Given the description of an element on the screen output the (x, y) to click on. 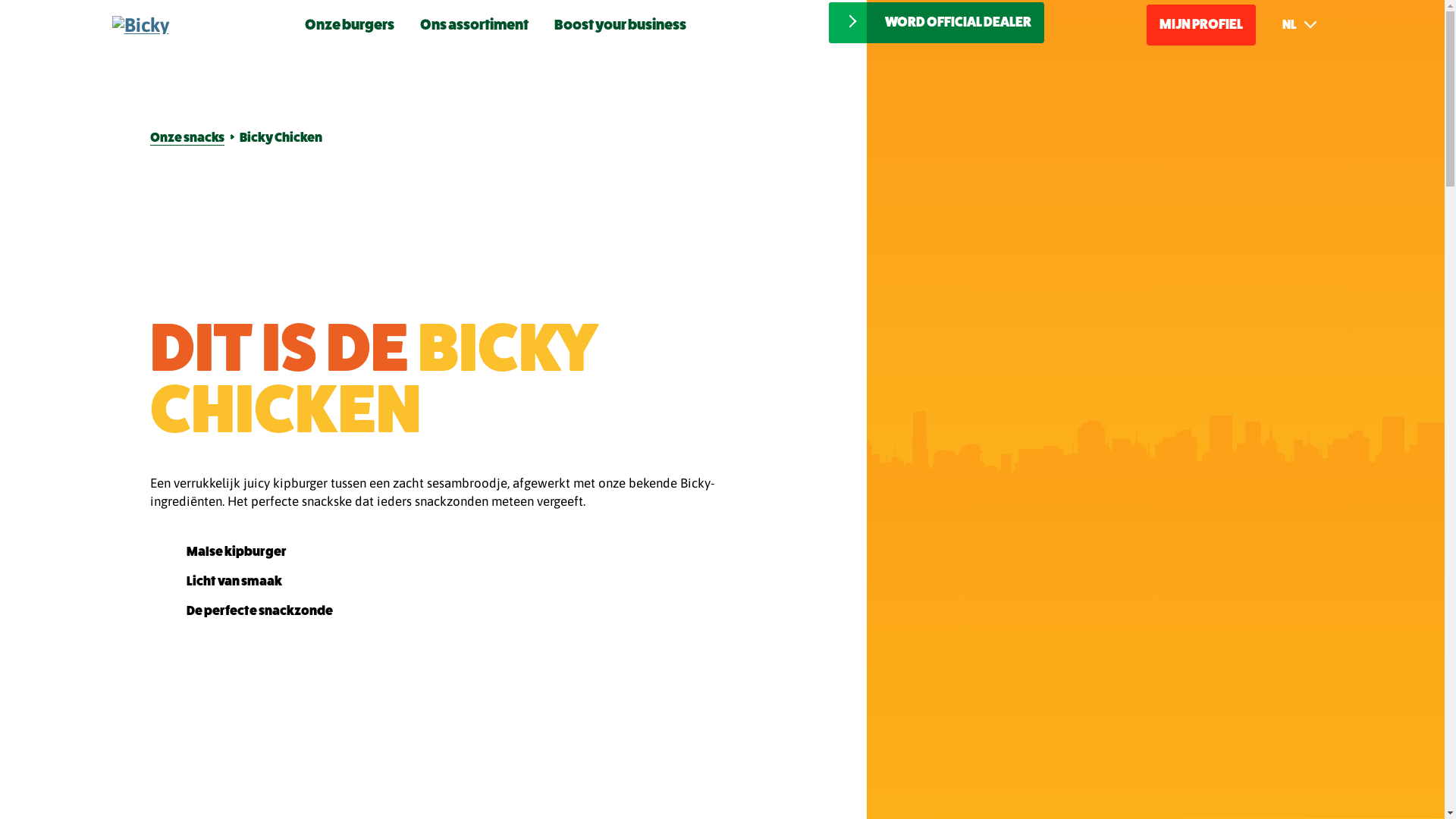
Ons assortiment Element type: text (474, 24)
Onze burgers Element type: text (349, 24)
MIJN PROFIEL Element type: text (1200, 24)
Onze snacks Element type: text (187, 137)
Boost your business Element type: text (619, 24)
WORD OFFICIAL DEALER Element type: text (936, 22)
